Given the description of an element on the screen output the (x, y) to click on. 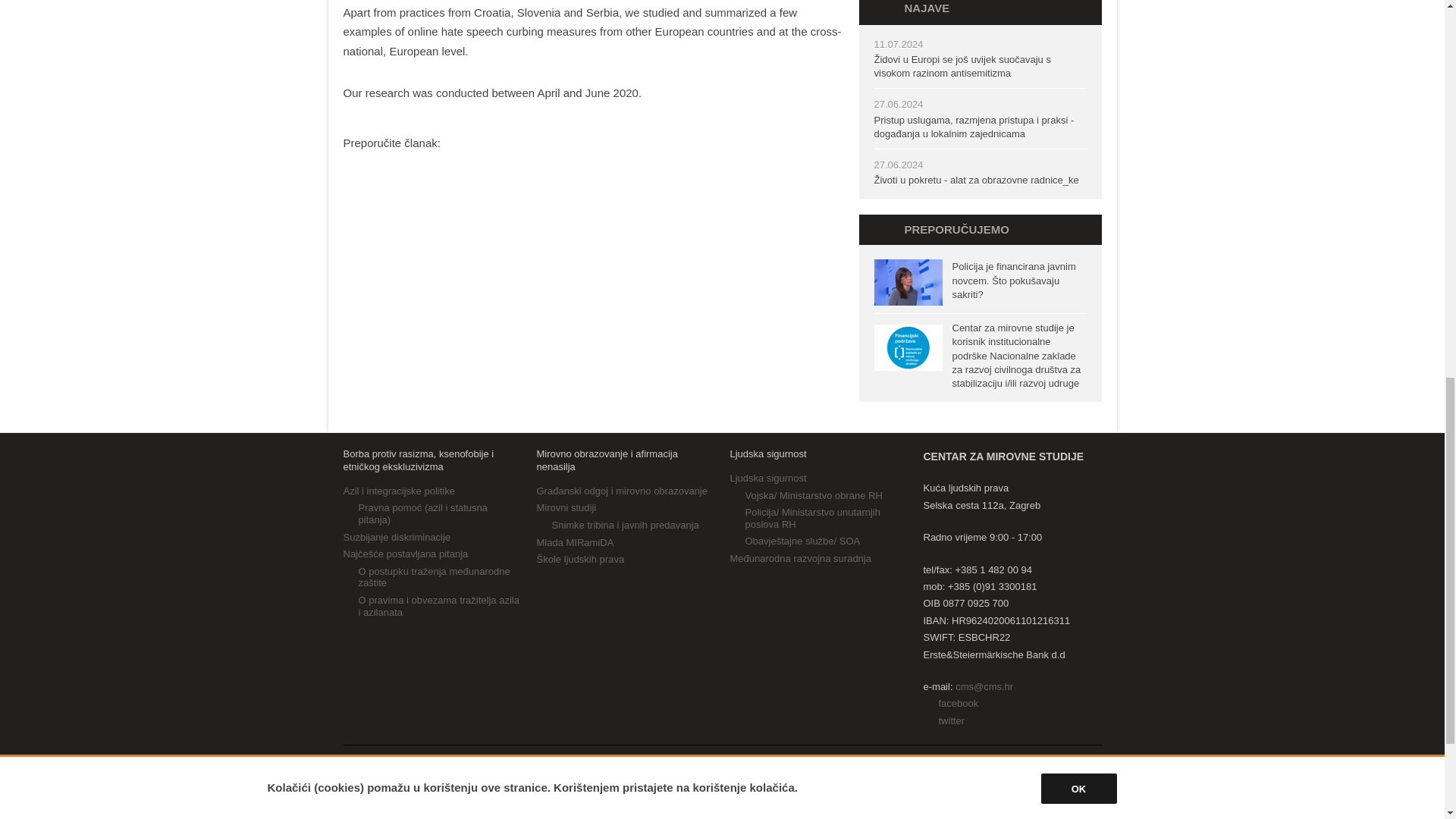
izrada web stranice (1061, 767)
